Given the description of an element on the screen output the (x, y) to click on. 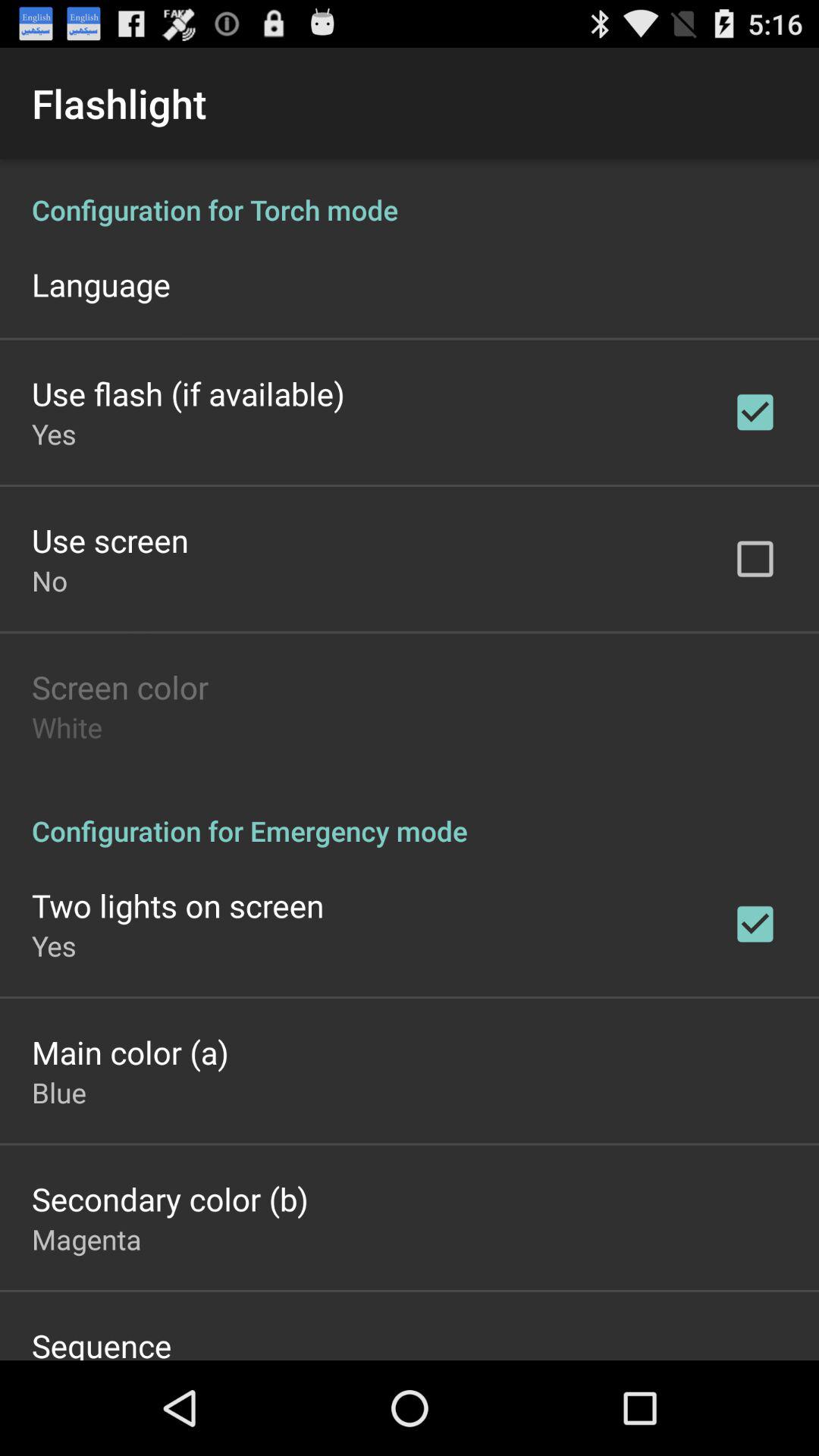
swipe until the secondary color (b) item (169, 1198)
